Given the description of an element on the screen output the (x, y) to click on. 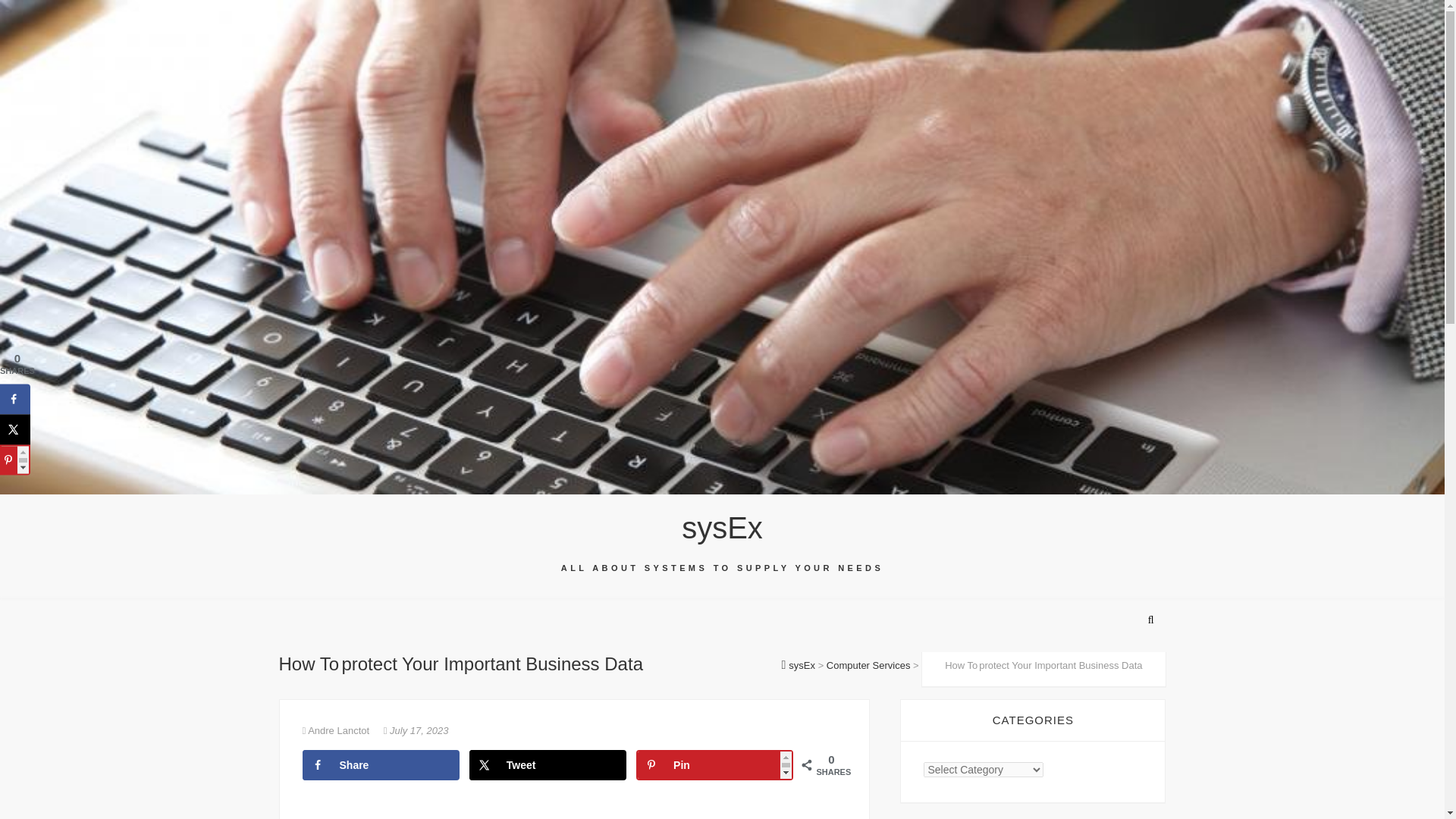
Computer Services (869, 665)
Share on Facebook (15, 399)
Save to Pinterest (15, 459)
Go to the Computer Services Category archives. (869, 665)
Tweet (547, 764)
July 17, 2023 (416, 730)
Share on X (547, 764)
sysEx (798, 665)
Pin (714, 764)
Andre Lanctot (336, 730)
Save to Pinterest (714, 764)
Share (379, 764)
sysEx (721, 527)
Andre Lanctot (336, 730)
sysEx (721, 527)
